Given the description of an element on the screen output the (x, y) to click on. 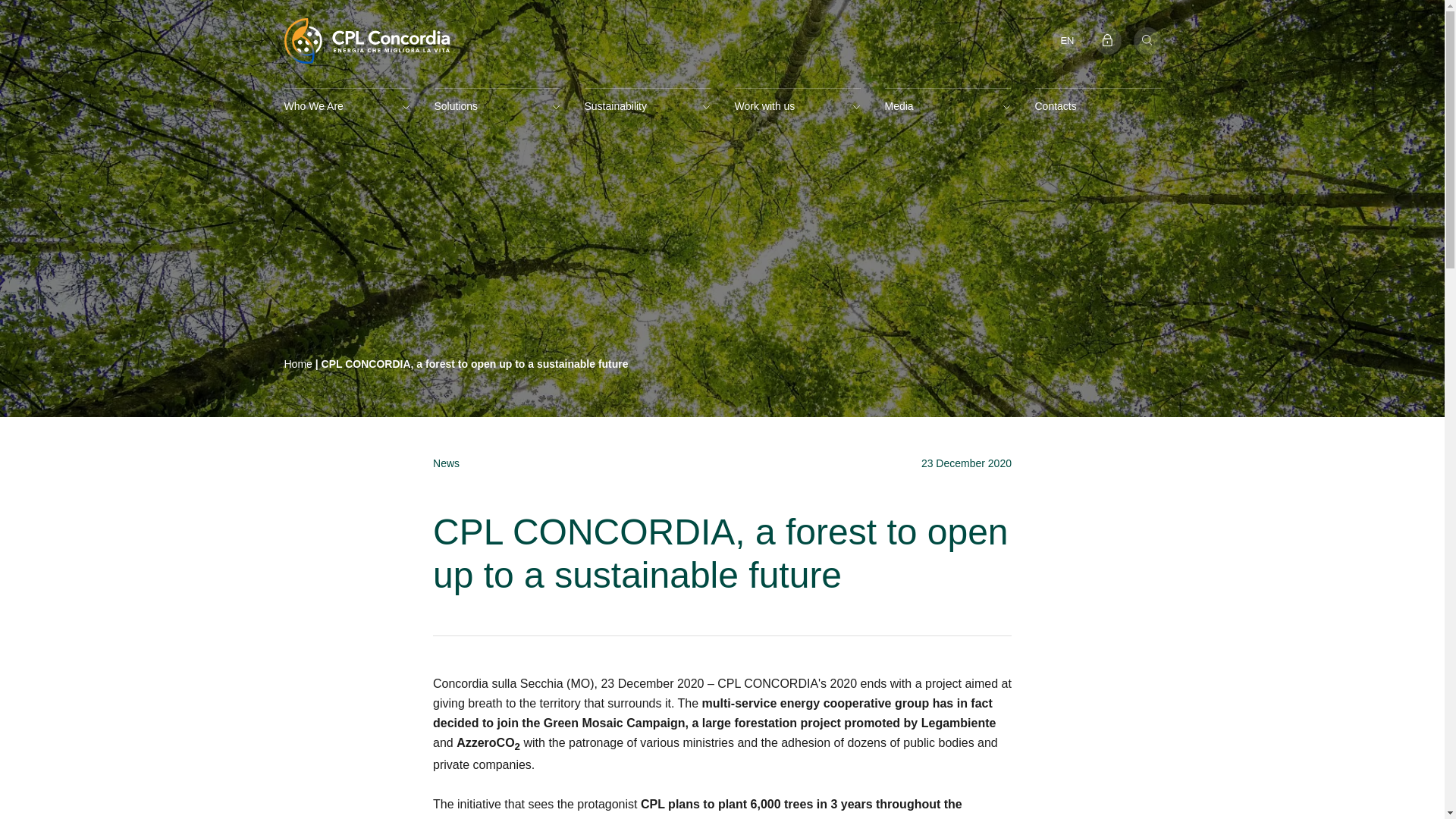
Solutions (496, 106)
Who We Are (346, 106)
